Given the description of an element on the screen output the (x, y) to click on. 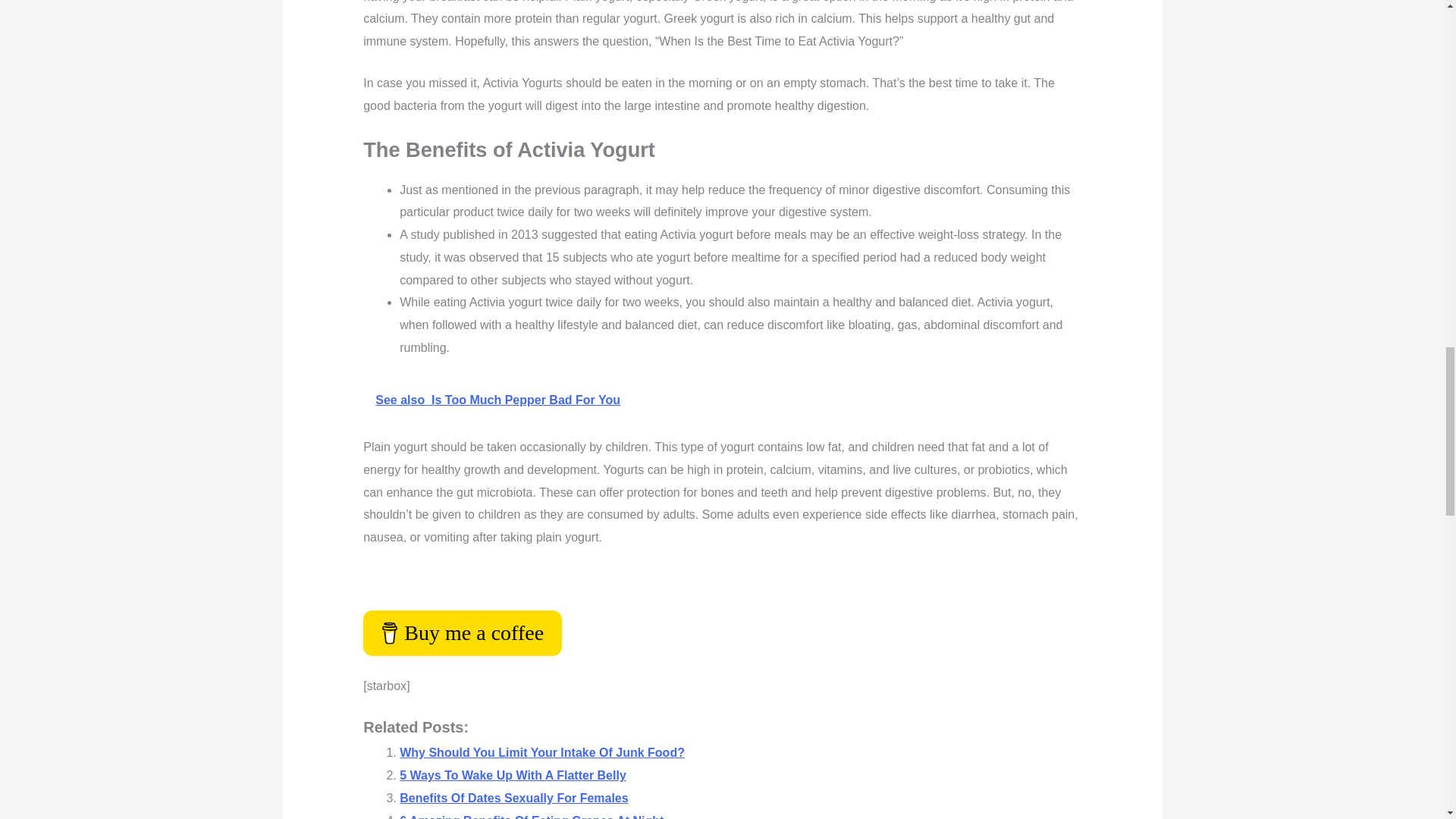
6 Amazing Benefits Of Eating Grapes At Night (530, 816)
Why Should You Limit Your Intake Of Junk Food? (541, 752)
Benefits Of Dates Sexually For Females (512, 797)
Benefits Of Dates Sexually For Females (512, 797)
Buy me a coffee (462, 632)
Why Should You Limit Your Intake Of Junk Food? (541, 752)
6 Amazing Benefits Of Eating Grapes At Night (530, 816)
5 Ways To Wake Up With A Flatter Belly (512, 775)
5 Ways To Wake Up With A Flatter Belly (512, 775)
See also  Is Too Much Pepper Bad For You (721, 400)
